Given the description of an element on the screen output the (x, y) to click on. 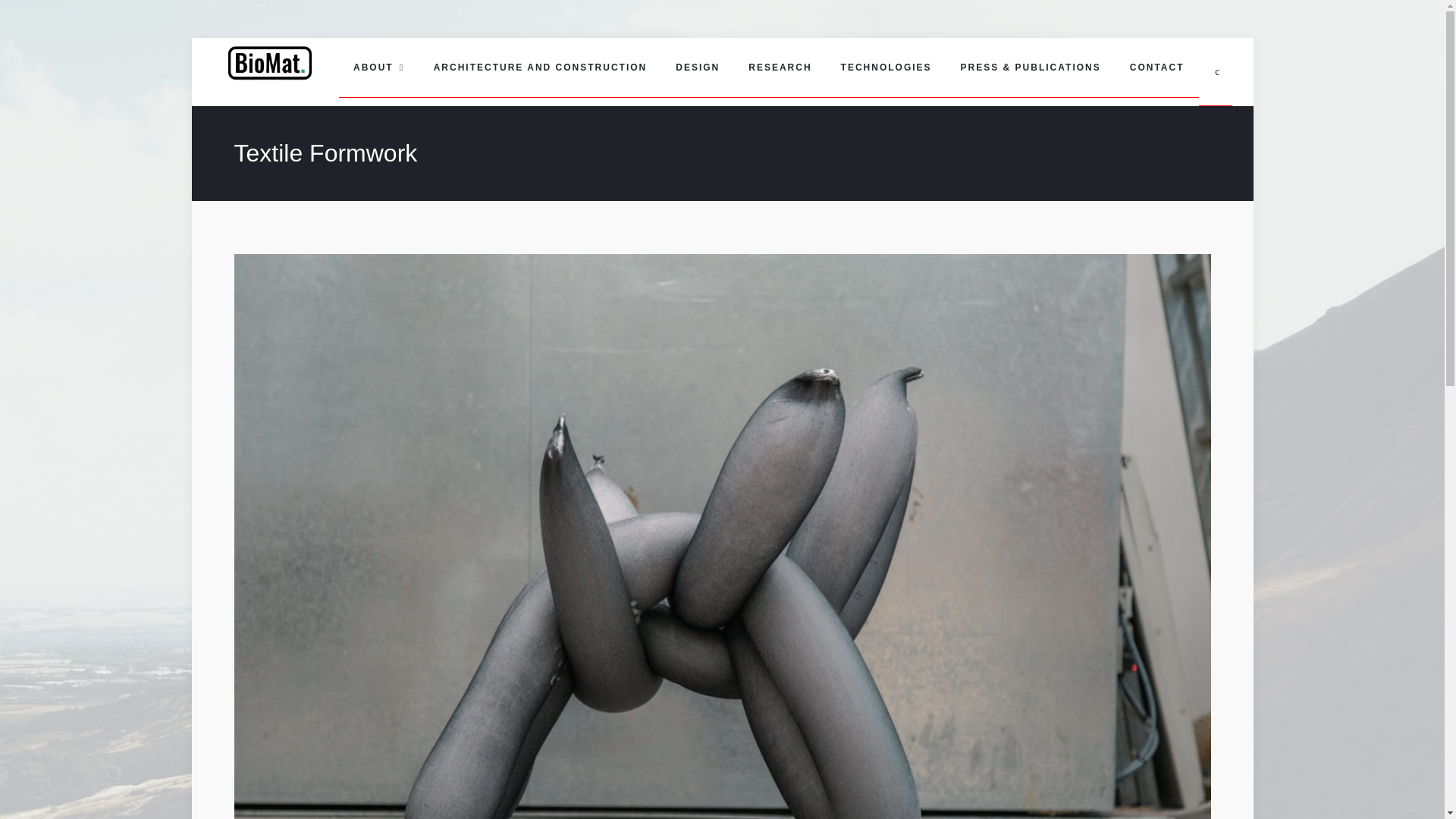
RESEARCH (779, 67)
ABOUT (379, 67)
DESIGN (697, 67)
ARCHITECTURE AND CONSTRUCTION (540, 67)
CONTACT (1156, 67)
TECHNOLOGIES (886, 67)
